Given the description of an element on the screen output the (x, y) to click on. 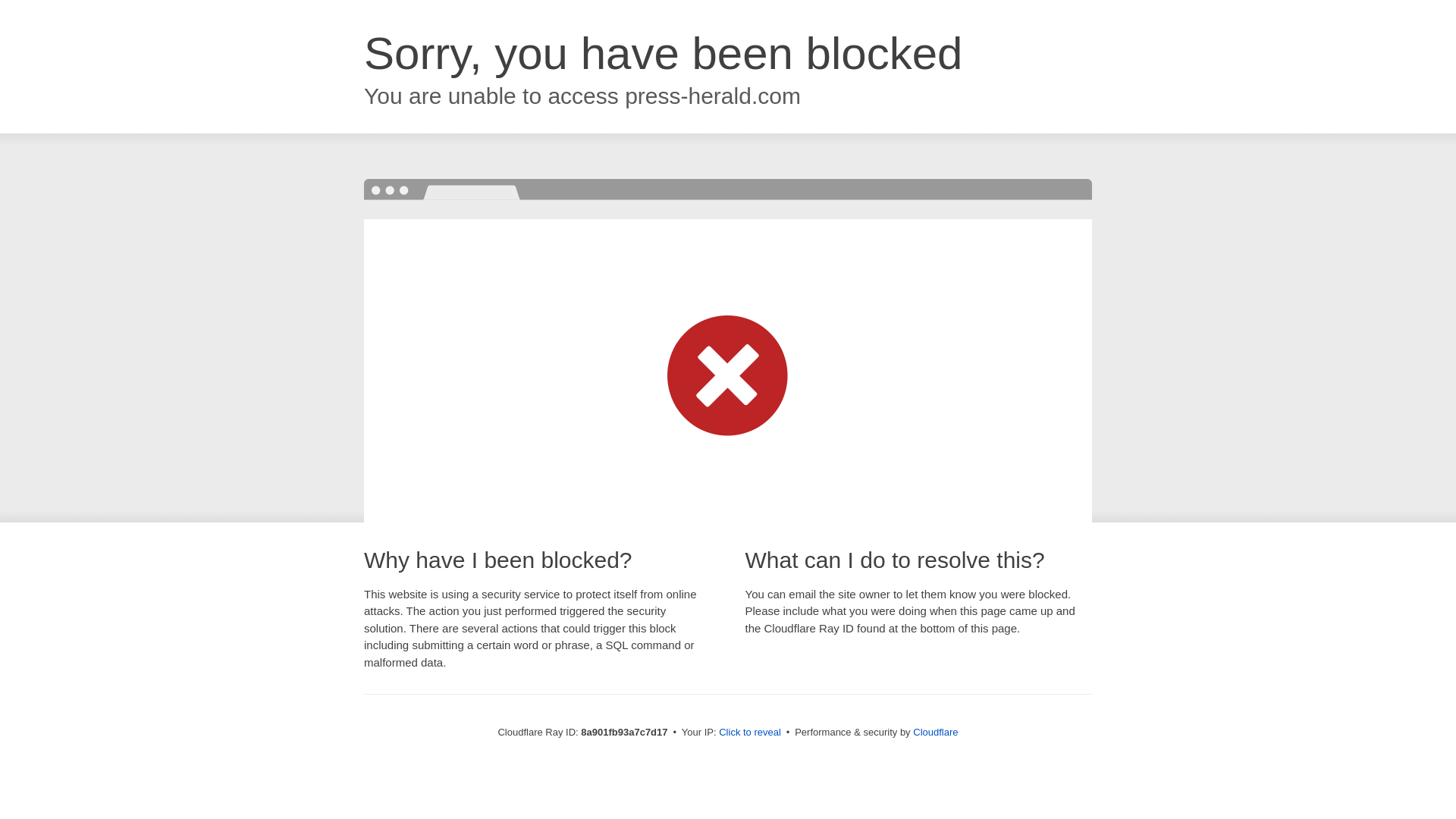
Click to reveal (749, 732)
Cloudflare (935, 731)
